Given the description of an element on the screen output the (x, y) to click on. 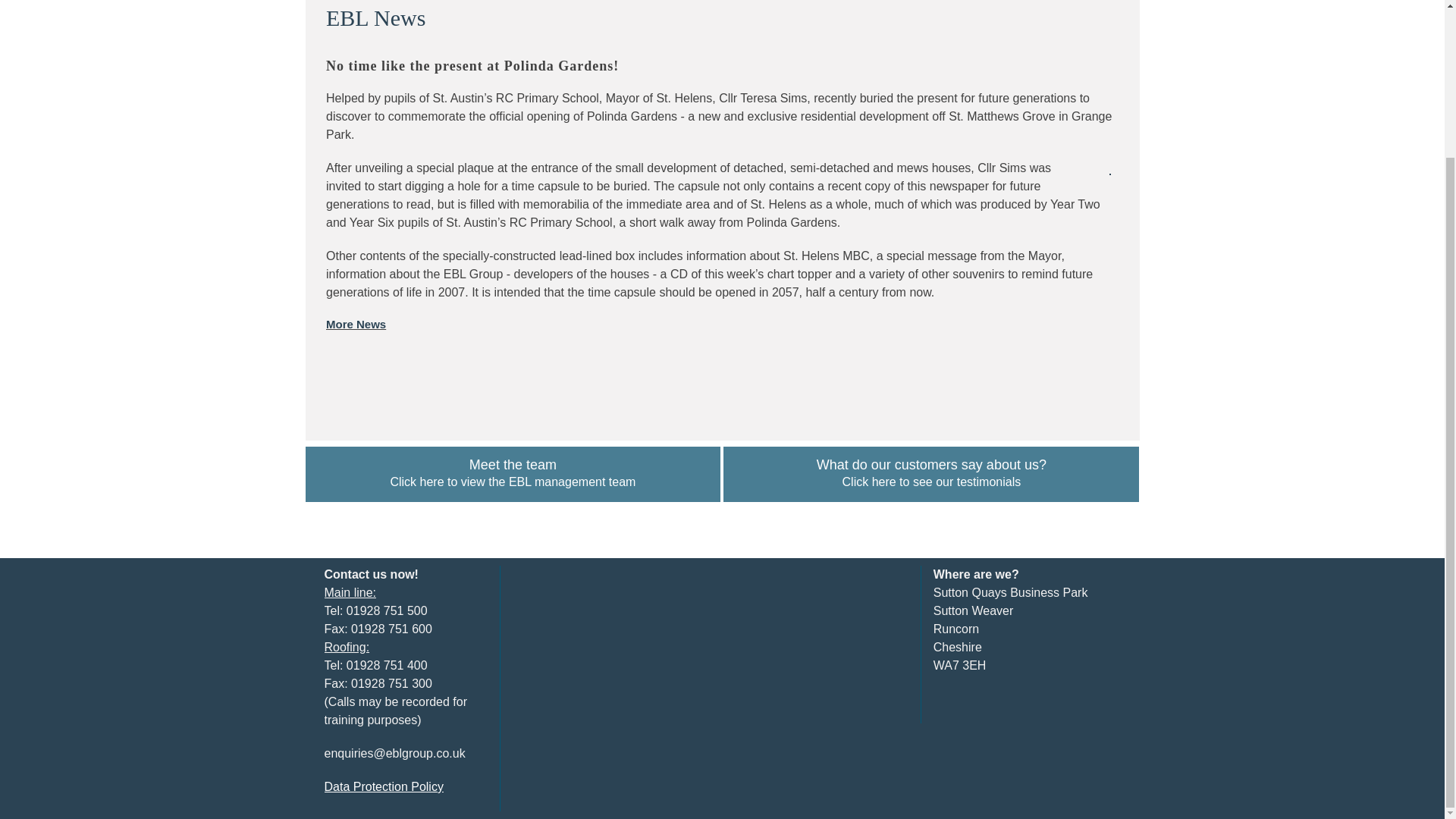
More News (355, 323)
Data Protection Policy (384, 786)
